Given the description of an element on the screen output the (x, y) to click on. 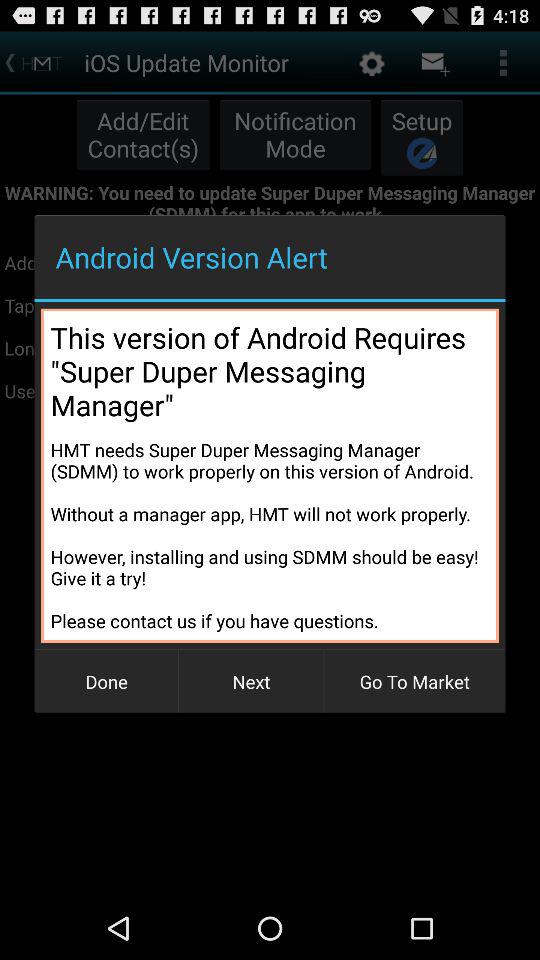
select done button (106, 681)
